Given the description of an element on the screen output the (x, y) to click on. 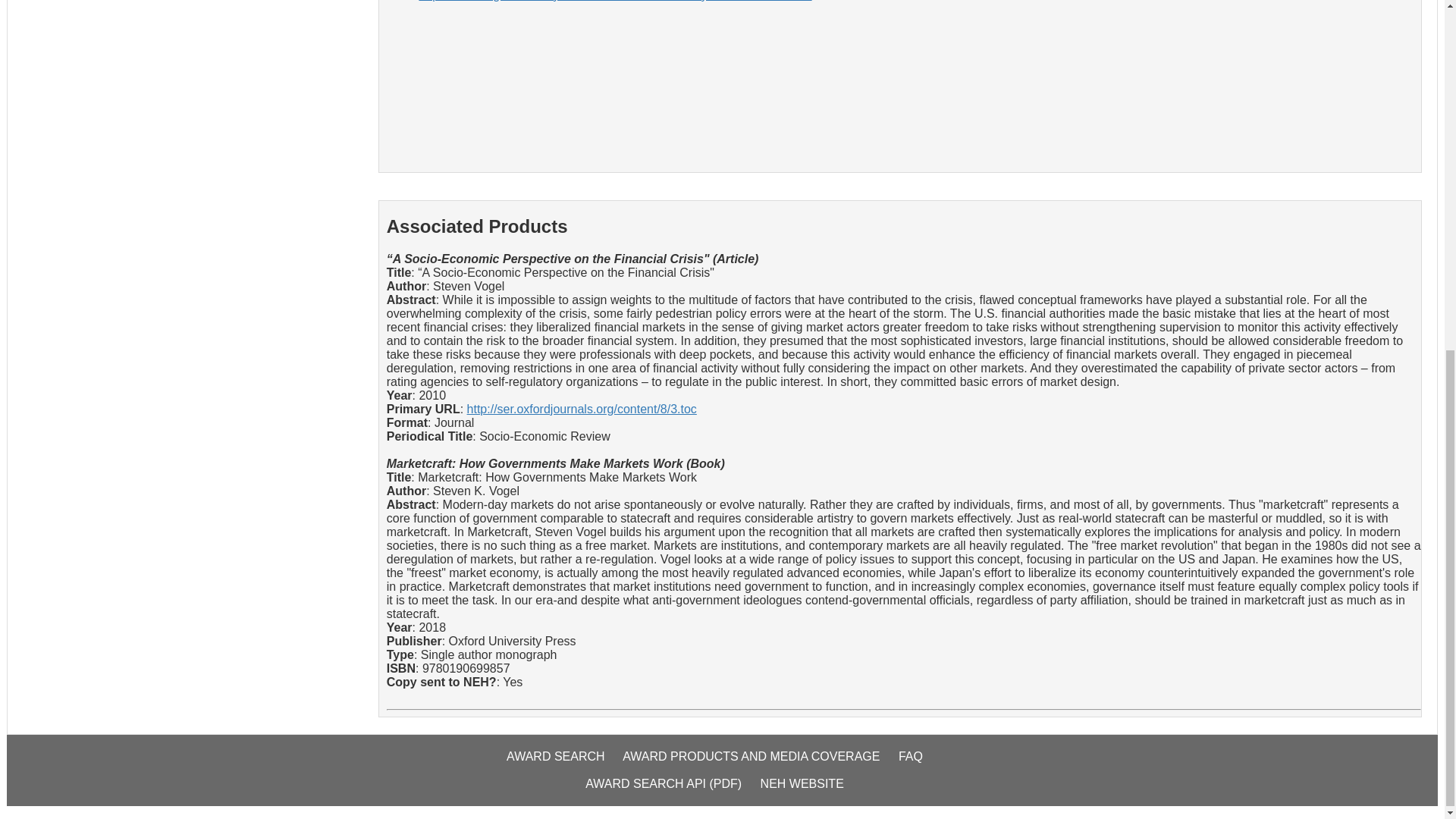
NEH WEBSITE (809, 791)
FAQ (917, 764)
AWARD PRODUCTS AND MEDIA COVERAGE (759, 764)
AWARD SEARCH (563, 764)
